Given the description of an element on the screen output the (x, y) to click on. 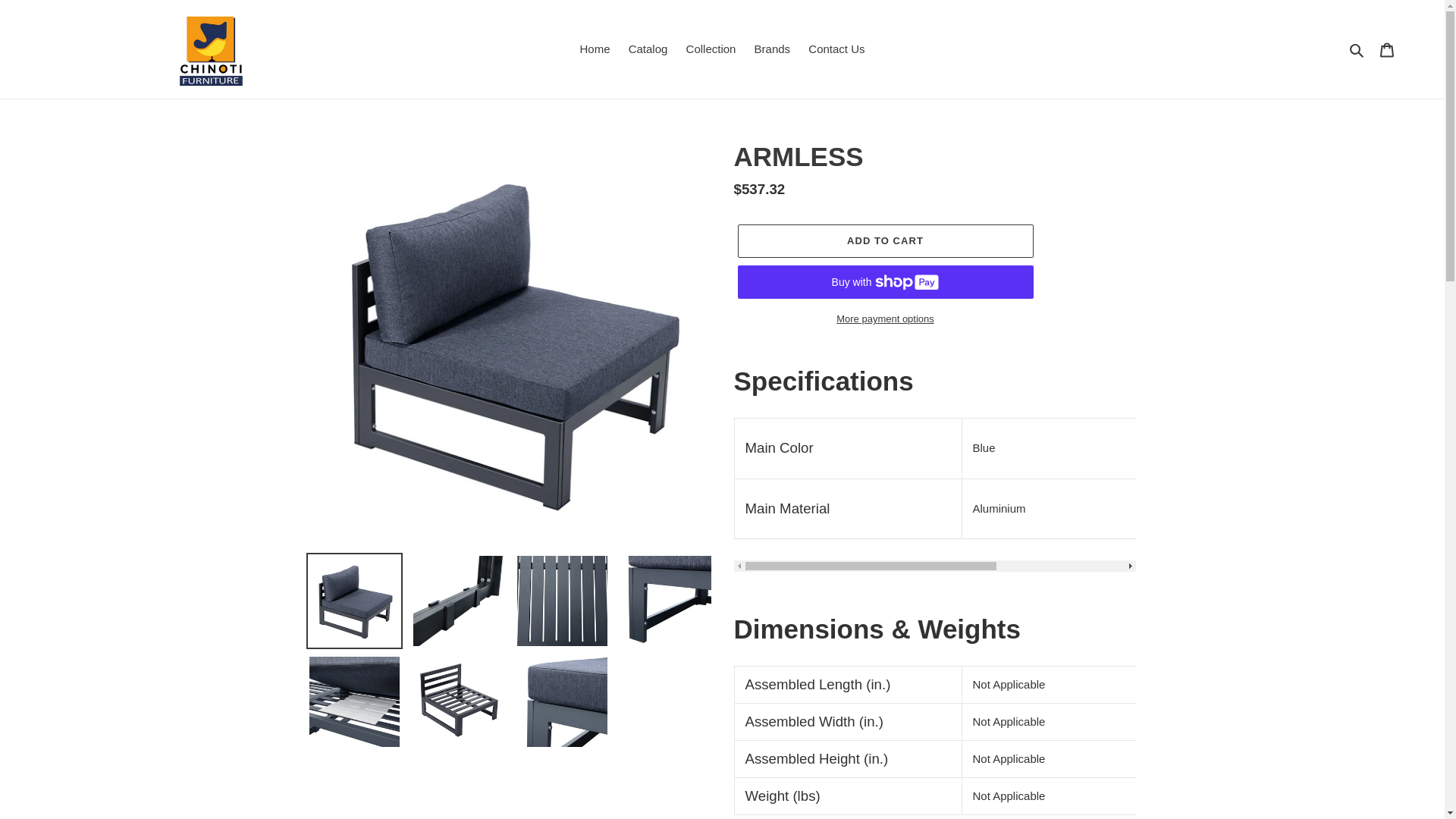
More payment options (884, 319)
Catalog (648, 49)
Cart (1387, 49)
Brands (771, 49)
Collection (711, 49)
Contact Us (836, 49)
ADD TO CART (934, 494)
Search (884, 240)
Home (1357, 49)
